Given the description of an element on the screen output the (x, y) to click on. 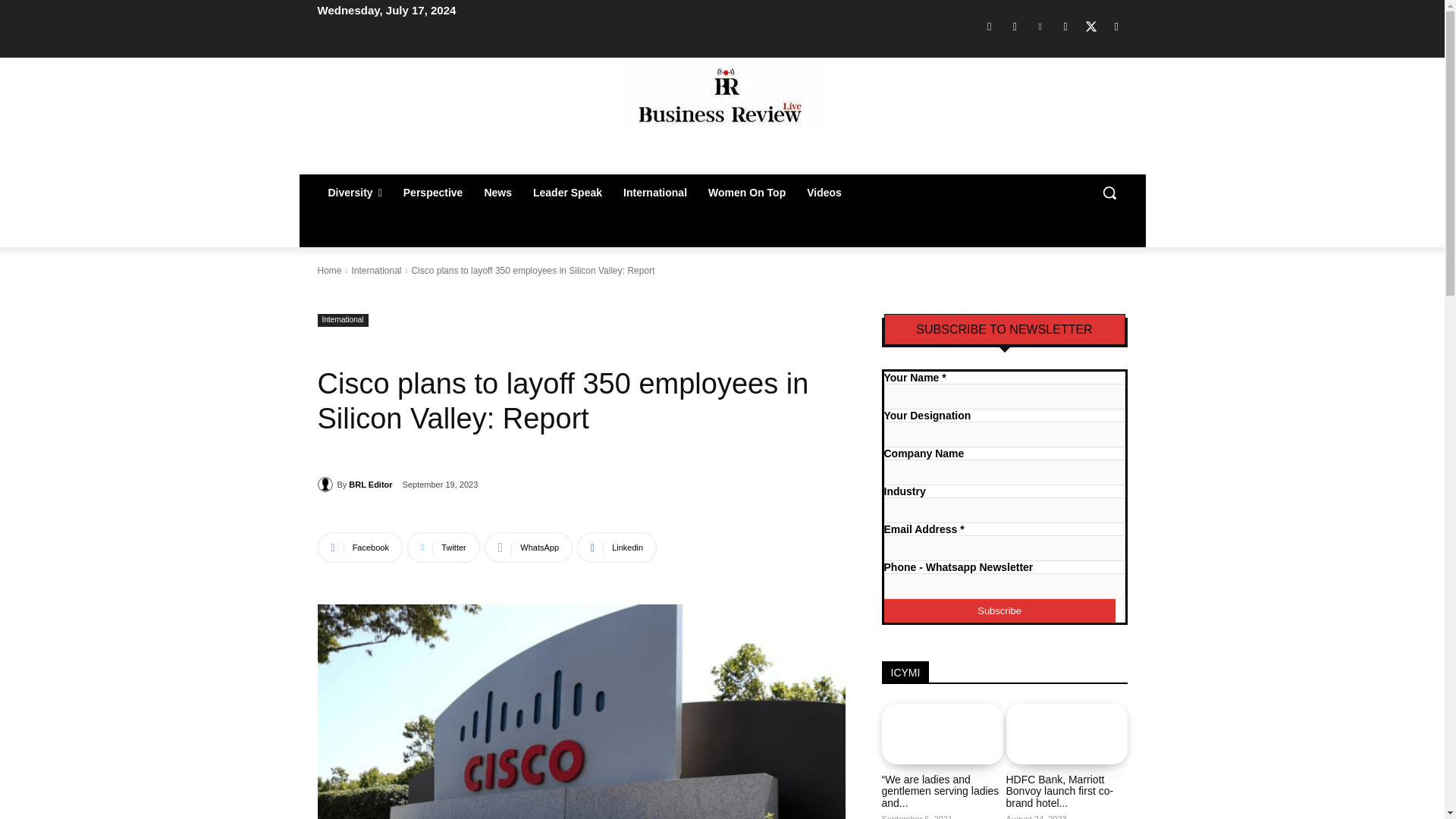
Subscribe (999, 610)
Perspective (433, 192)
News (497, 192)
Instagram (1015, 26)
Diversity (354, 192)
Leader Speak (567, 192)
International (654, 192)
Linkedin (1040, 26)
Mail (1065, 26)
Facebook (989, 26)
Women On Top (746, 192)
Twitter (1091, 26)
